Given the description of an element on the screen output the (x, y) to click on. 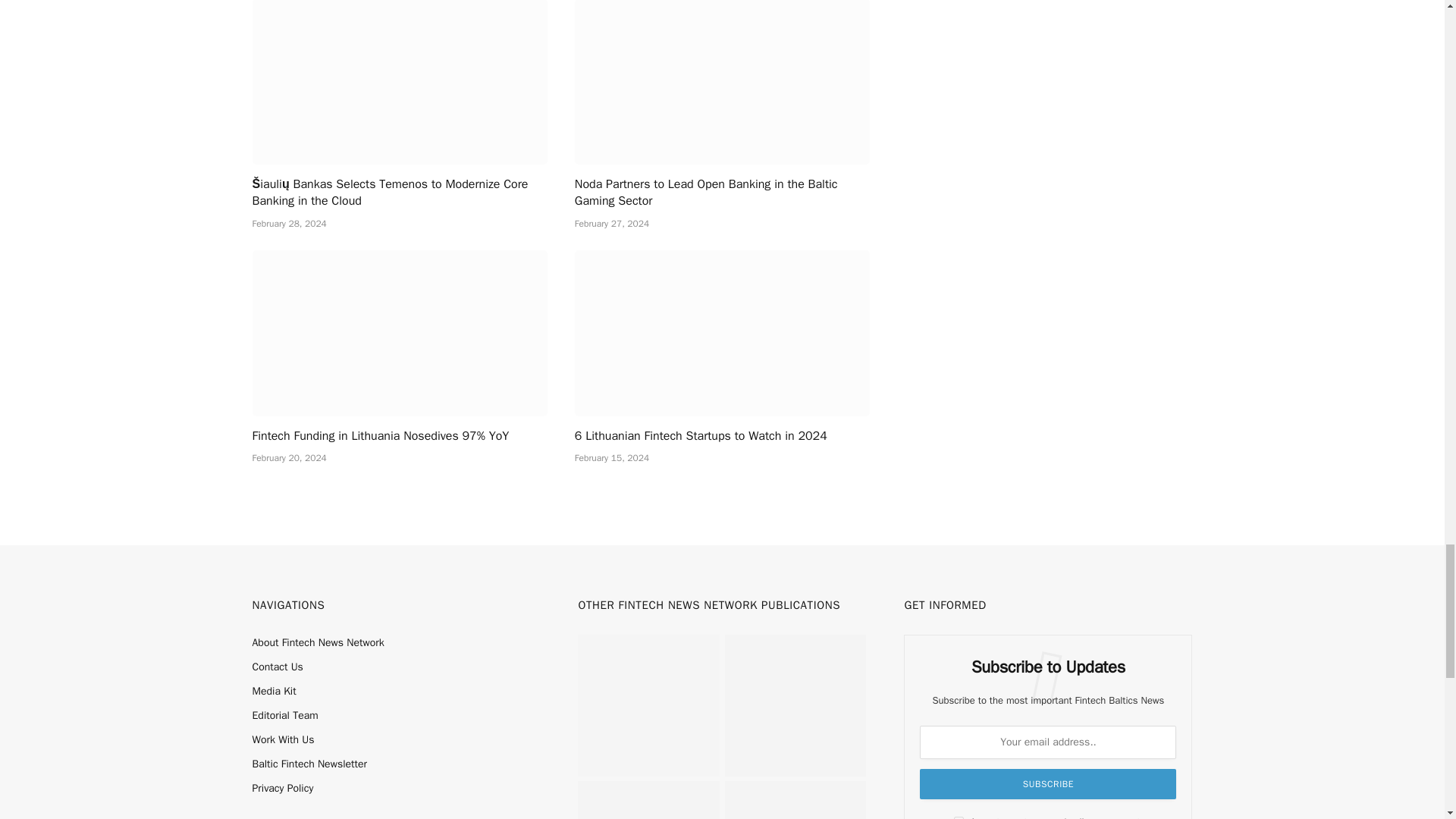
Subscribe (1048, 784)
